Given the description of an element on the screen output the (x, y) to click on. 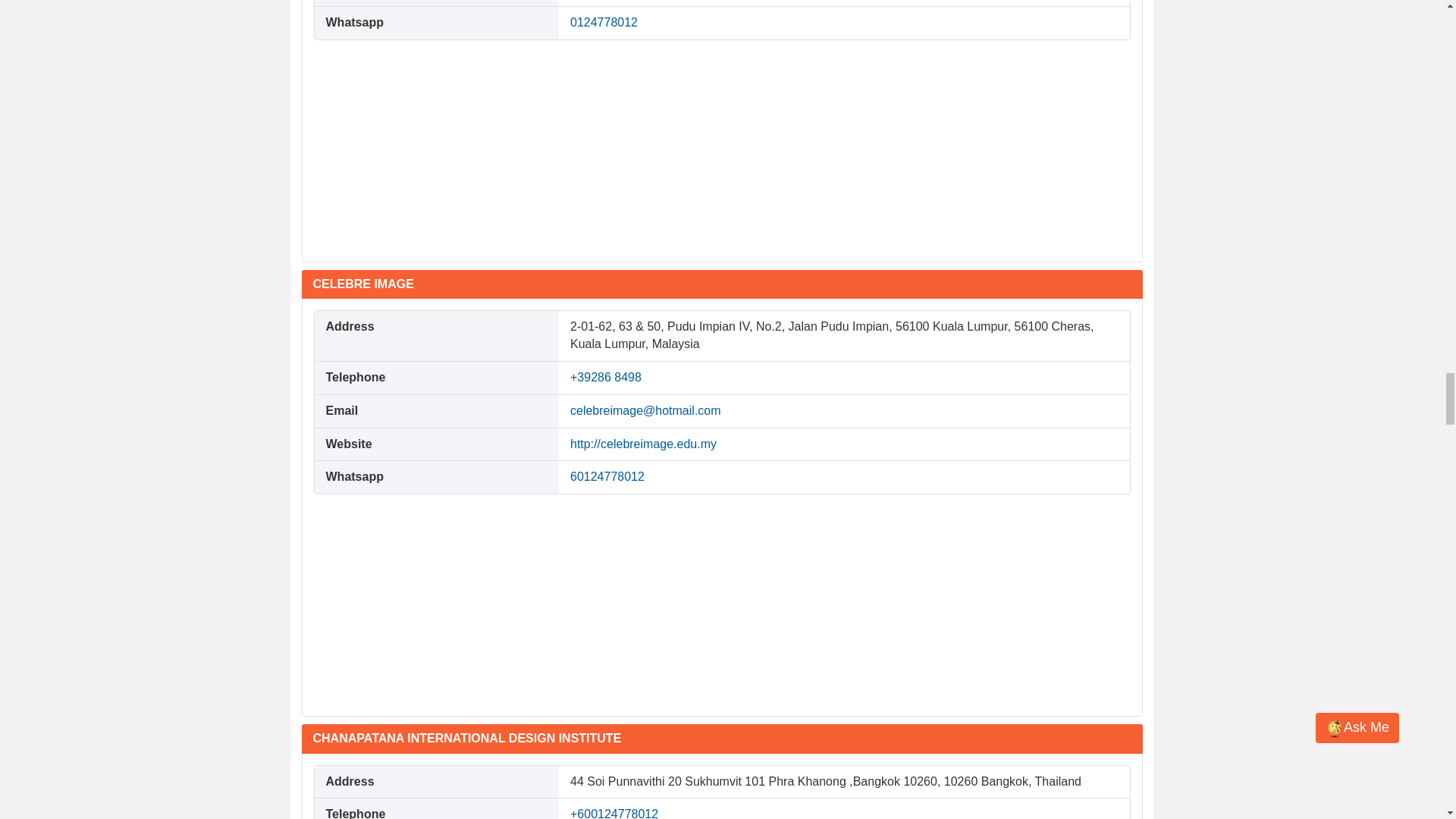
0124778012 (603, 21)
60124778012 (607, 476)
